Given the description of an element on the screen output the (x, y) to click on. 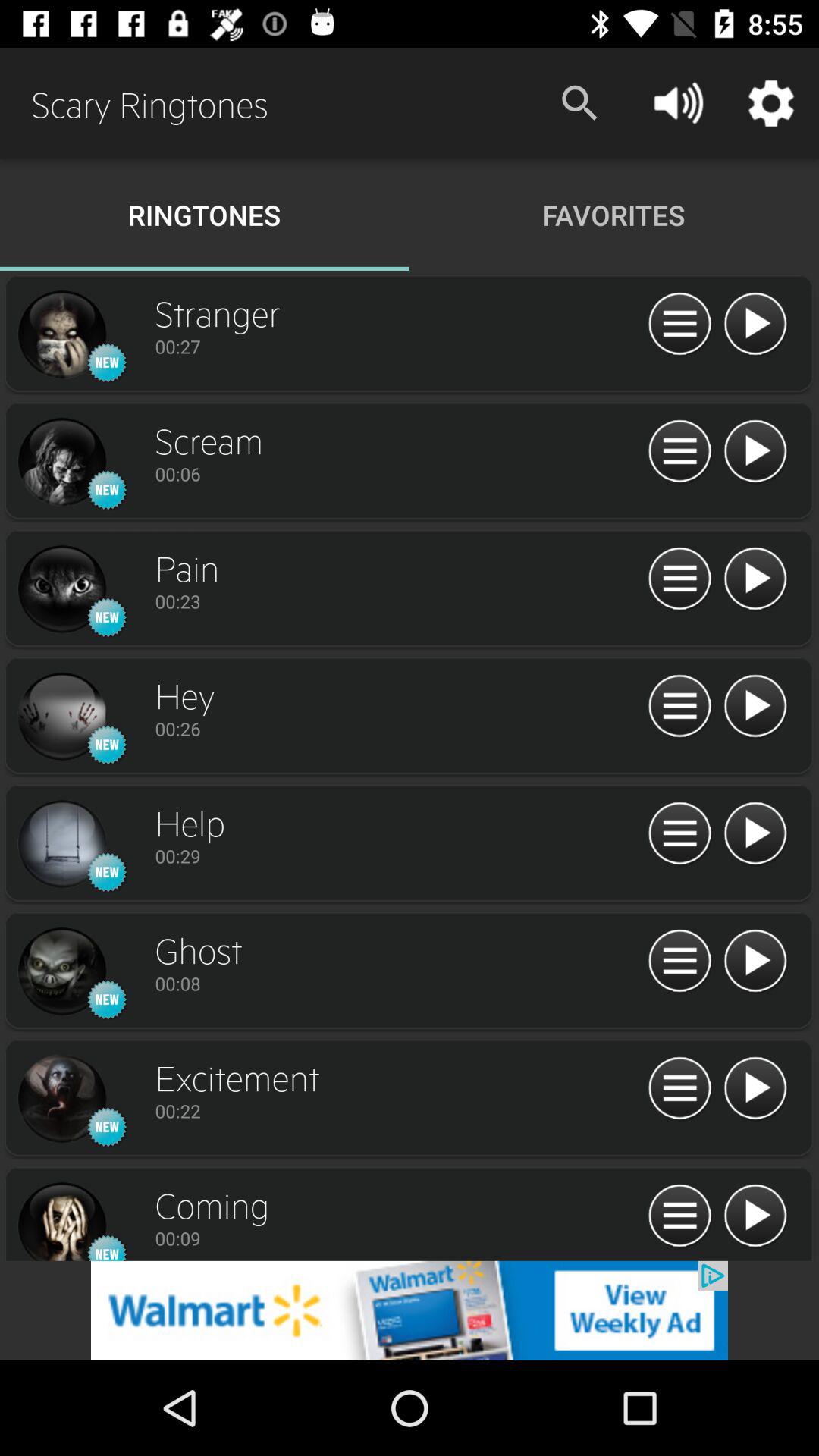
settings (679, 1216)
